Given the description of an element on the screen output the (x, y) to click on. 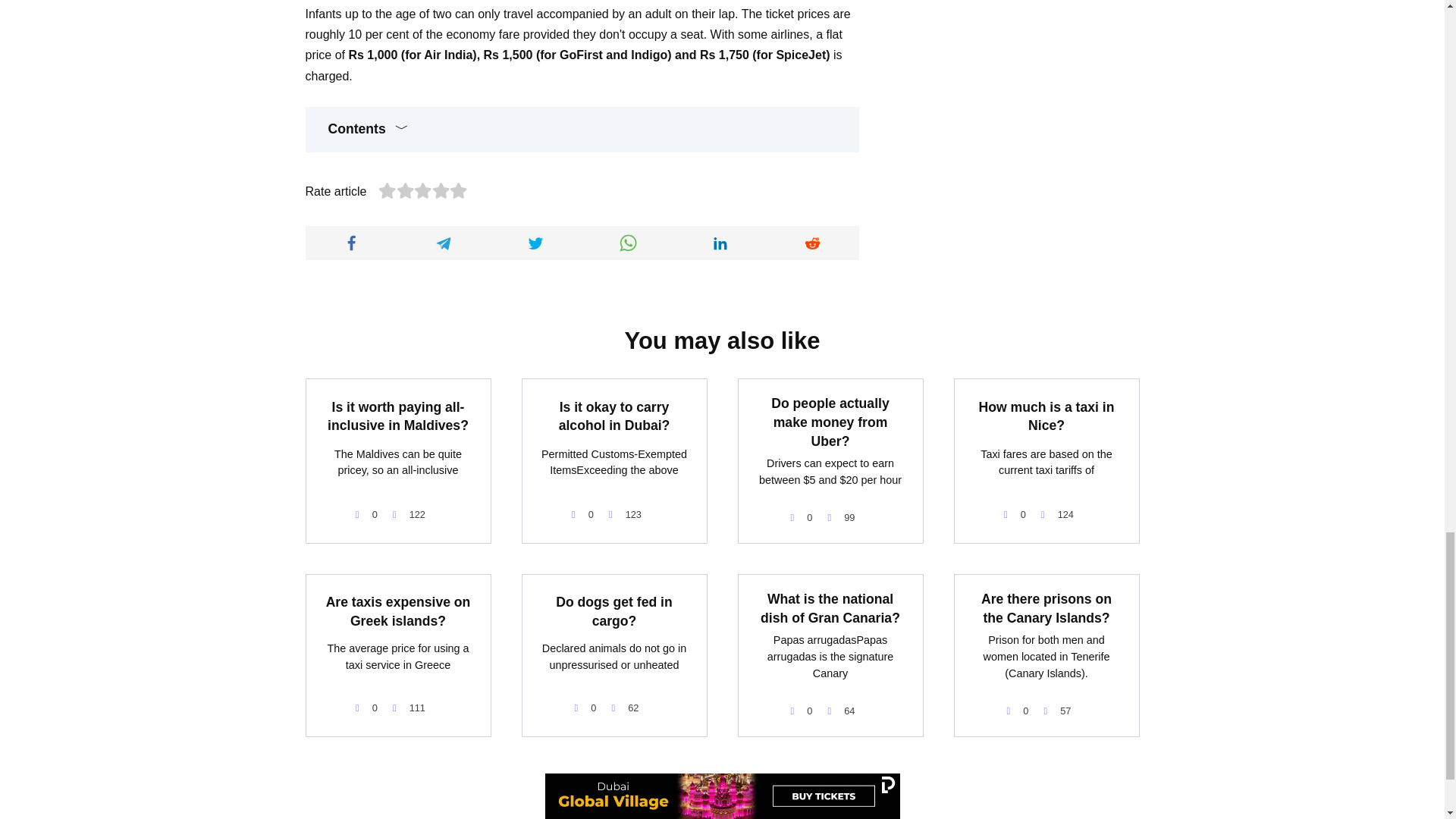
Do dogs get fed in cargo? (613, 610)
Are taxis expensive on Greek islands? (398, 610)
Do people actually make money from Uber? (829, 421)
Are there prisons on the Canary Islands? (1046, 607)
How much is a taxi in Nice? (1046, 416)
Is it worth paying all-inclusive in Maldives? (397, 416)
What is the national dish of Gran Canaria? (829, 607)
Is it okay to carry alcohol in Dubai? (614, 416)
